Given the description of an element on the screen output the (x, y) to click on. 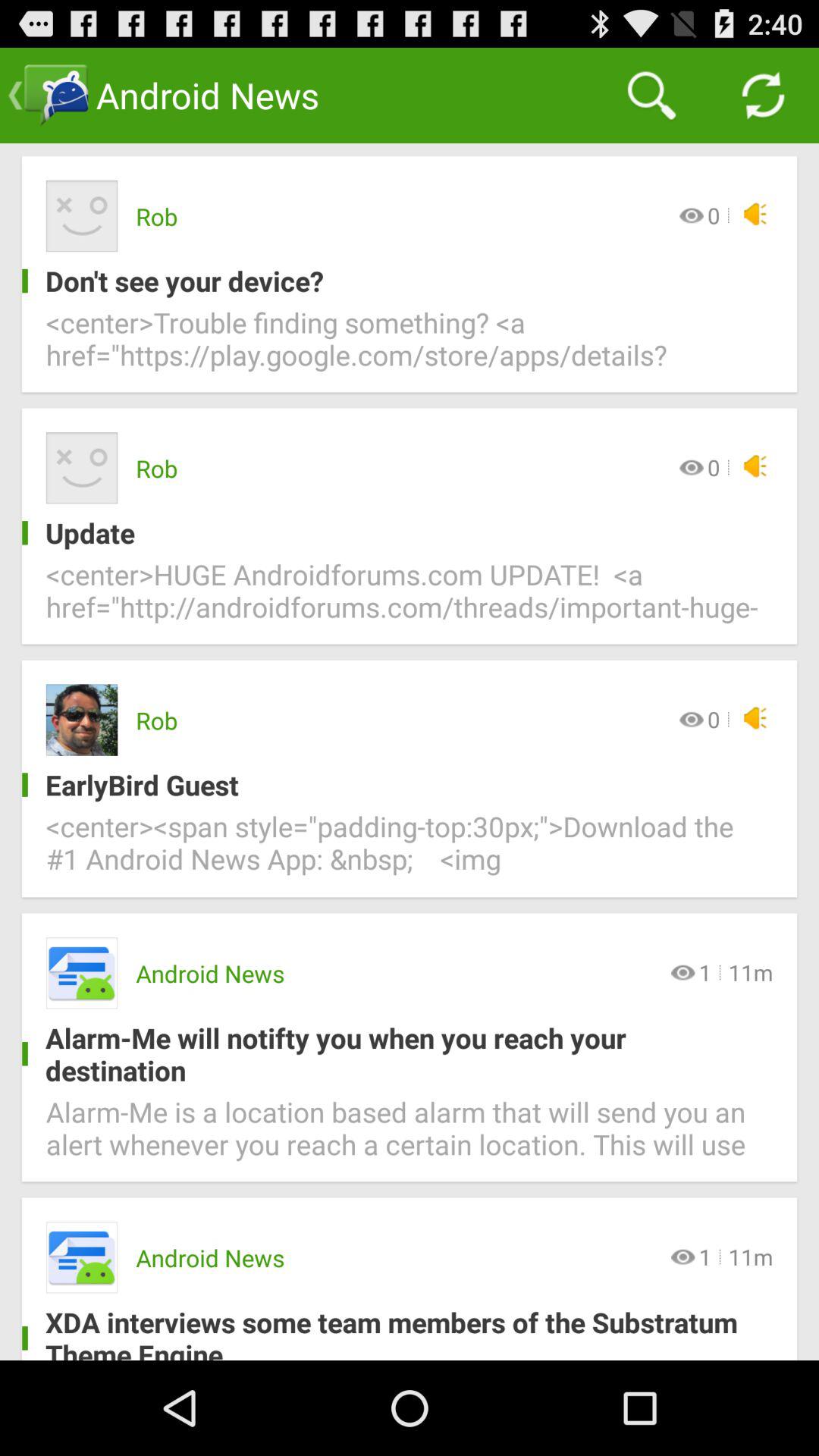
jump until earlybird guest icon (397, 784)
